Given the description of an element on the screen output the (x, y) to click on. 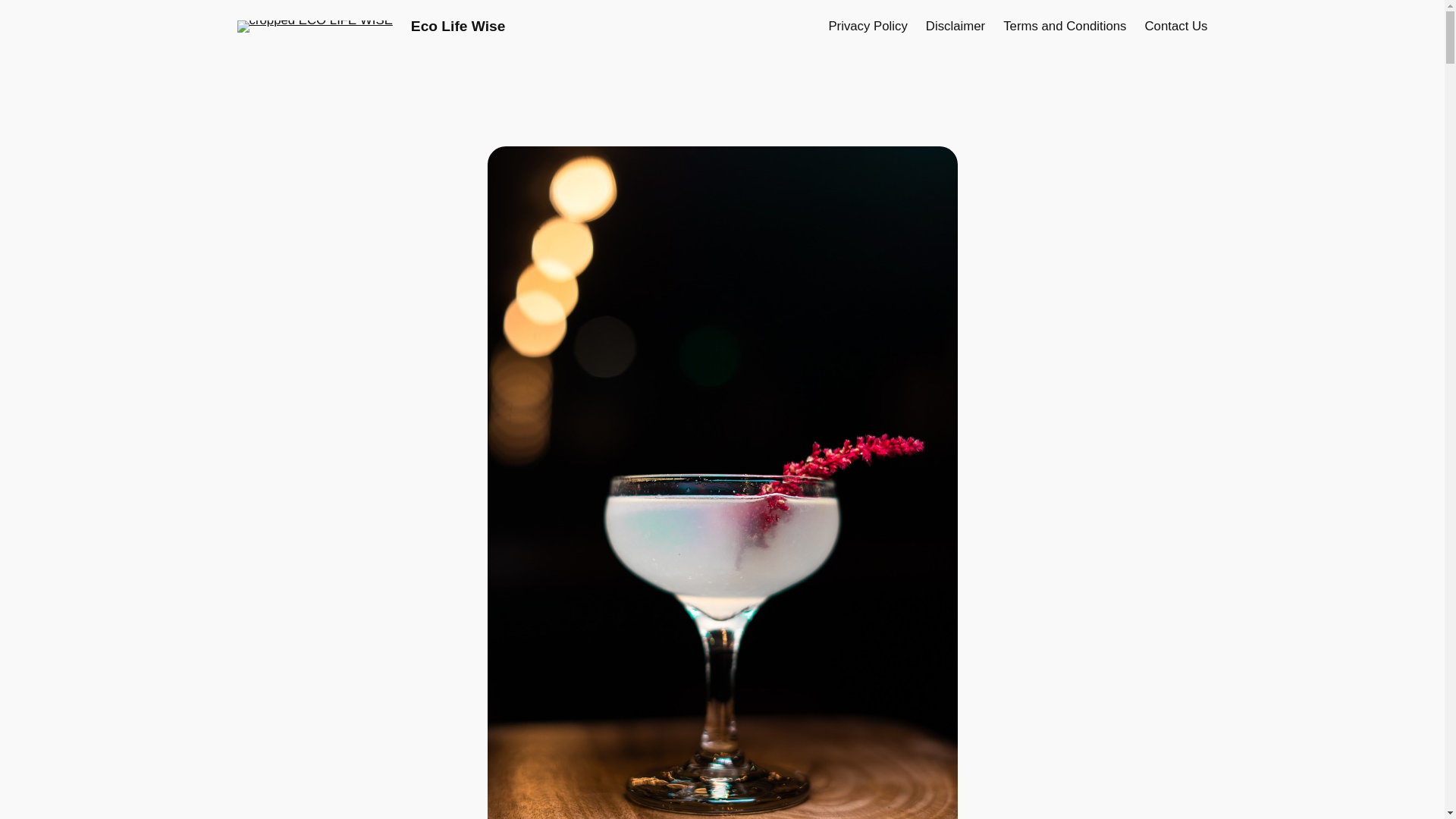
Eco Life Wise (457, 26)
Terms and Conditions (1064, 26)
Disclaimer (955, 26)
Contact Us (1175, 26)
Privacy Policy (867, 26)
